Given the description of an element on the screen output the (x, y) to click on. 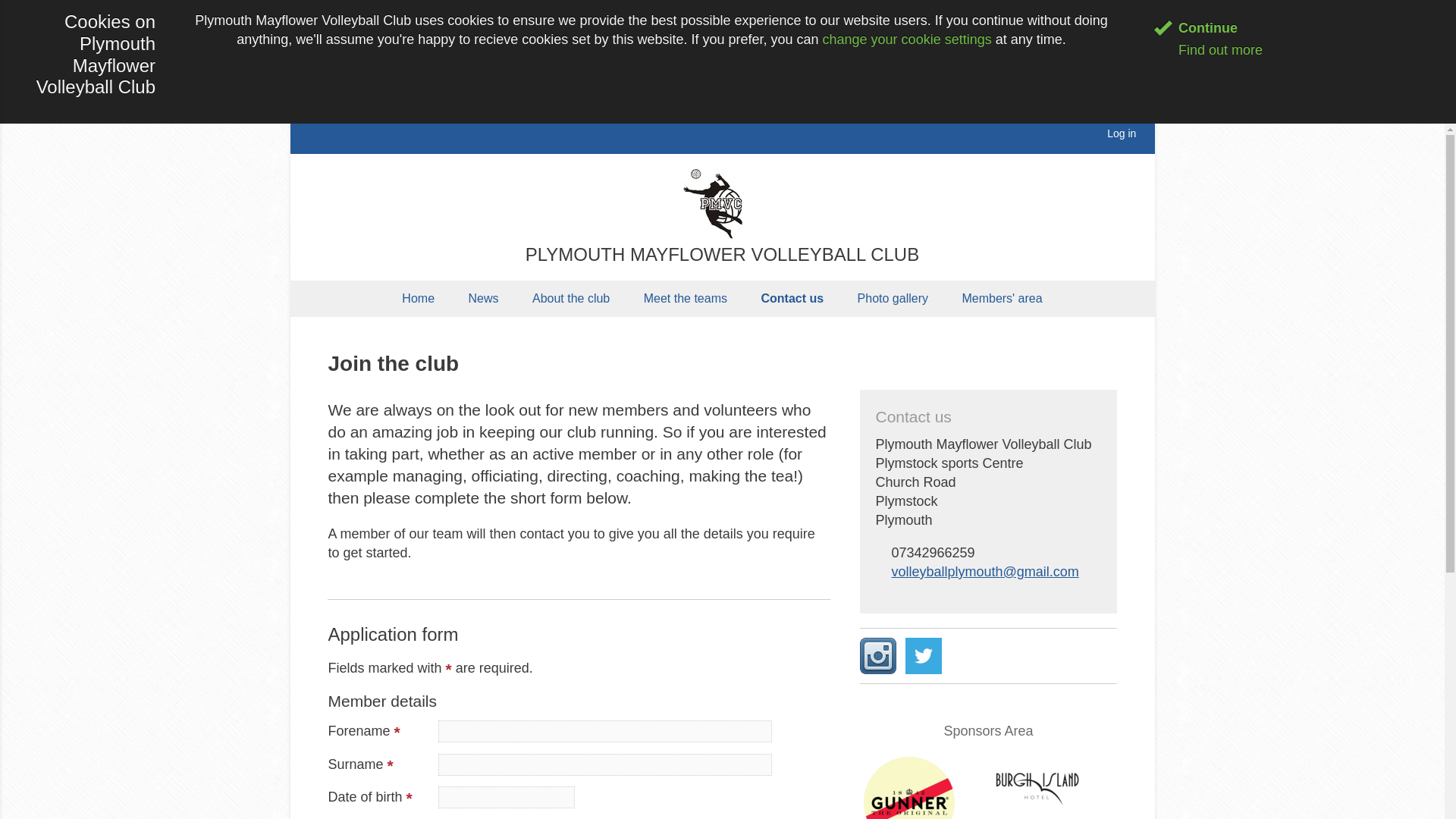
Follow us on Twitter (923, 656)
Follow us on Instagram (878, 656)
change your cookie settings (906, 38)
Continue (1195, 28)
Find out more (1208, 49)
